Given the description of an element on the screen output the (x, y) to click on. 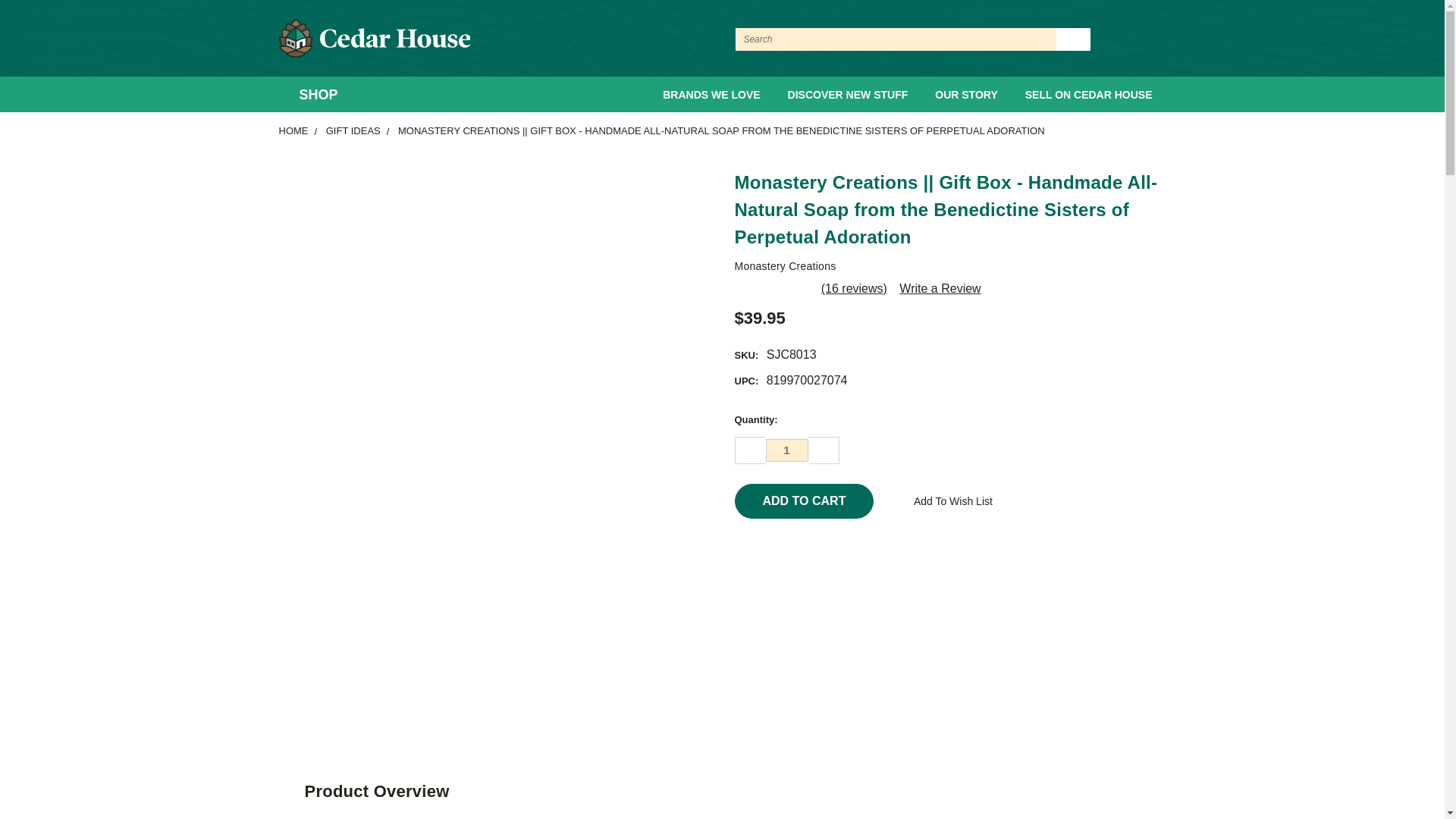
1 (786, 449)
SHOP (315, 94)
User Toolbox (1108, 38)
Submit Search (1074, 38)
Cart (1161, 38)
Gift Certificates (1135, 38)
Add to Cart (803, 501)
